Given the description of an element on the screen output the (x, y) to click on. 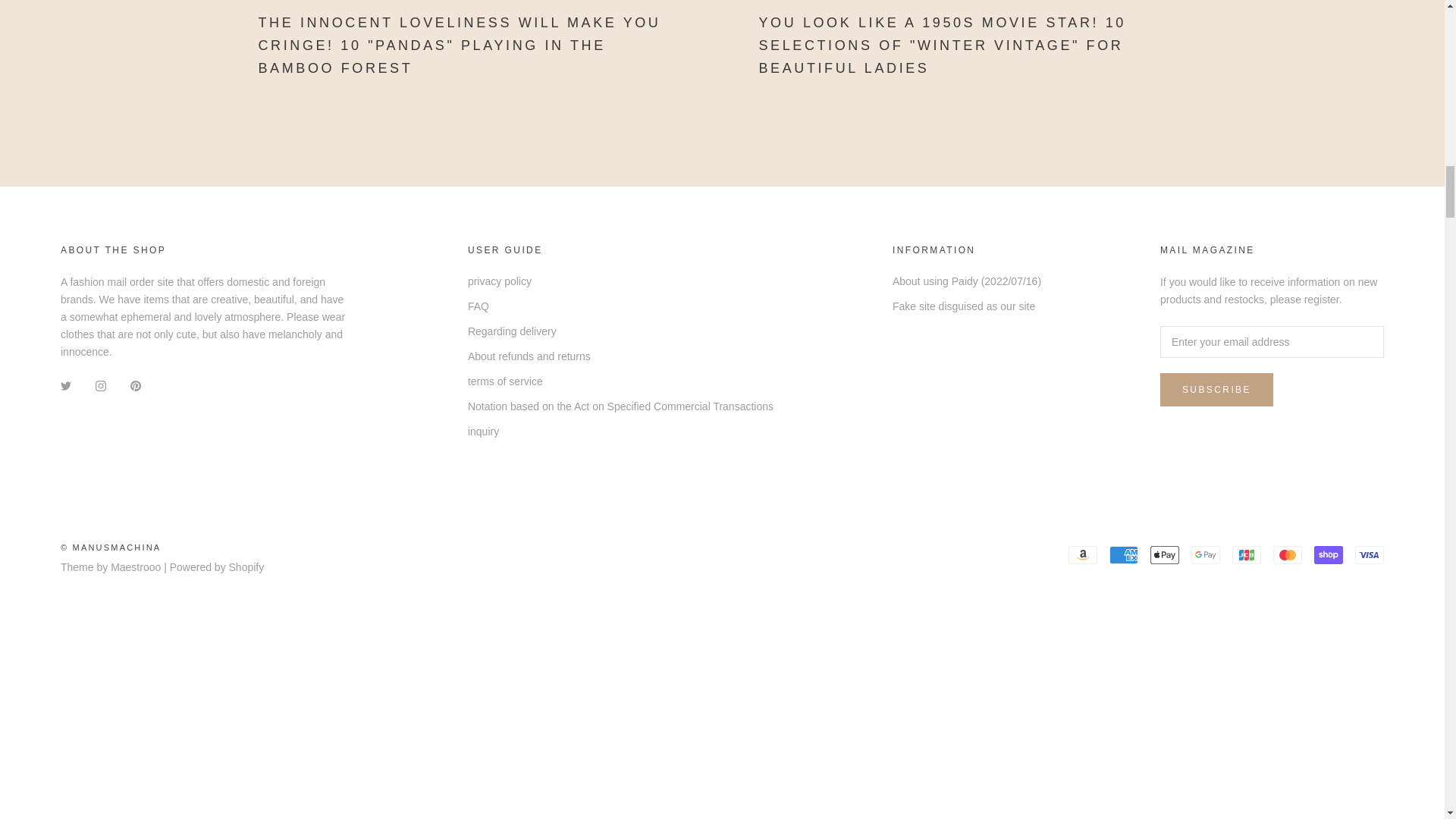
Shop Pay (1328, 555)
JCB (1245, 555)
Visa (1369, 555)
Apple Pay (1164, 555)
Google Pay (1205, 555)
American Express (1123, 555)
Amazon (1082, 555)
Mastercard (1286, 555)
